Given the description of an element on the screen output the (x, y) to click on. 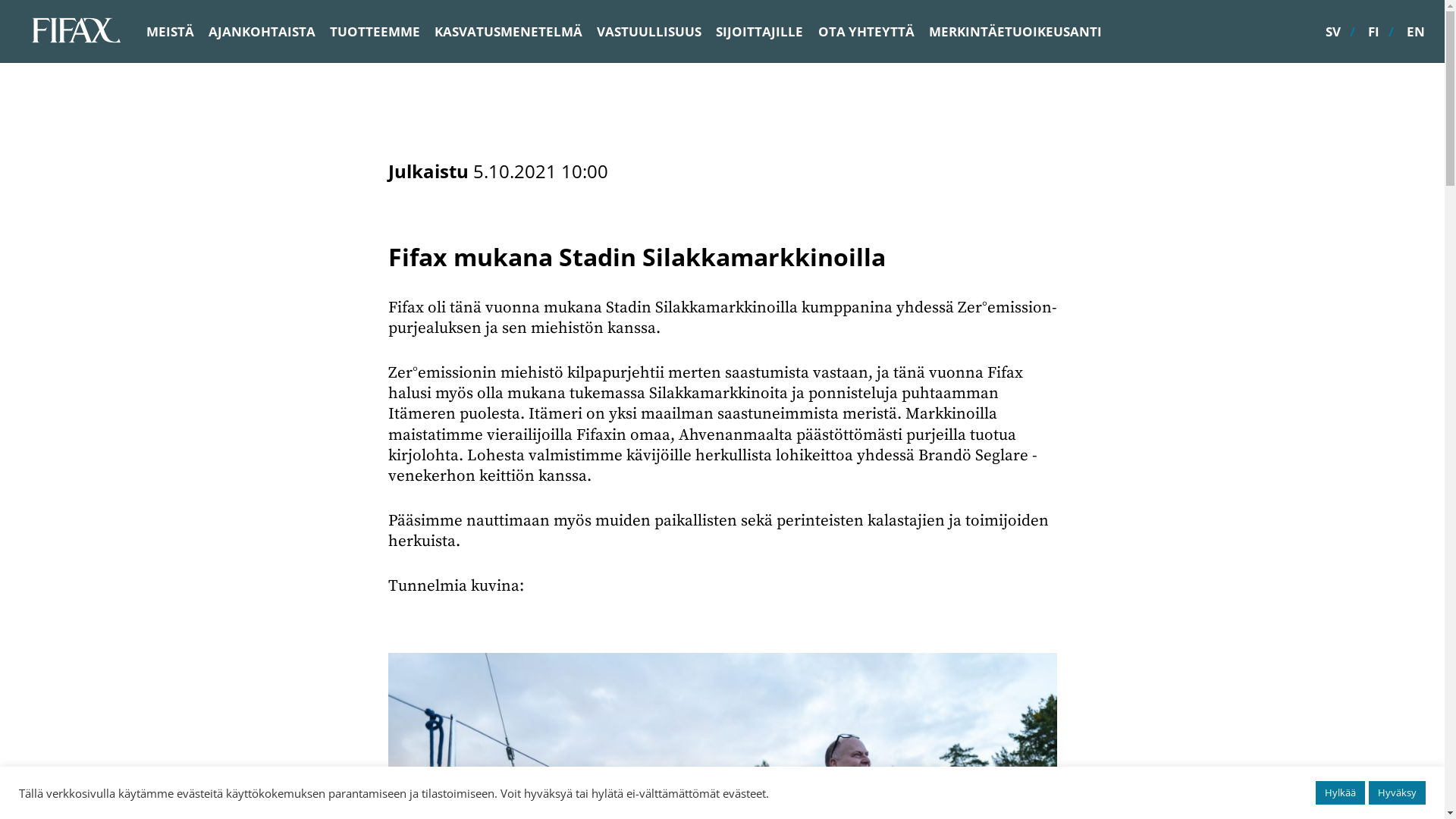
SIJOITTAJILLE Element type: text (759, 31)
SV Element type: text (1332, 31)
TUOTTEEMME Element type: text (374, 31)
VASTUULLISUUS Element type: text (648, 31)
AJANKOHTAISTA Element type: text (261, 31)
FI Element type: text (1373, 31)
EN Element type: text (1415, 31)
